Given the description of an element on the screen output the (x, y) to click on. 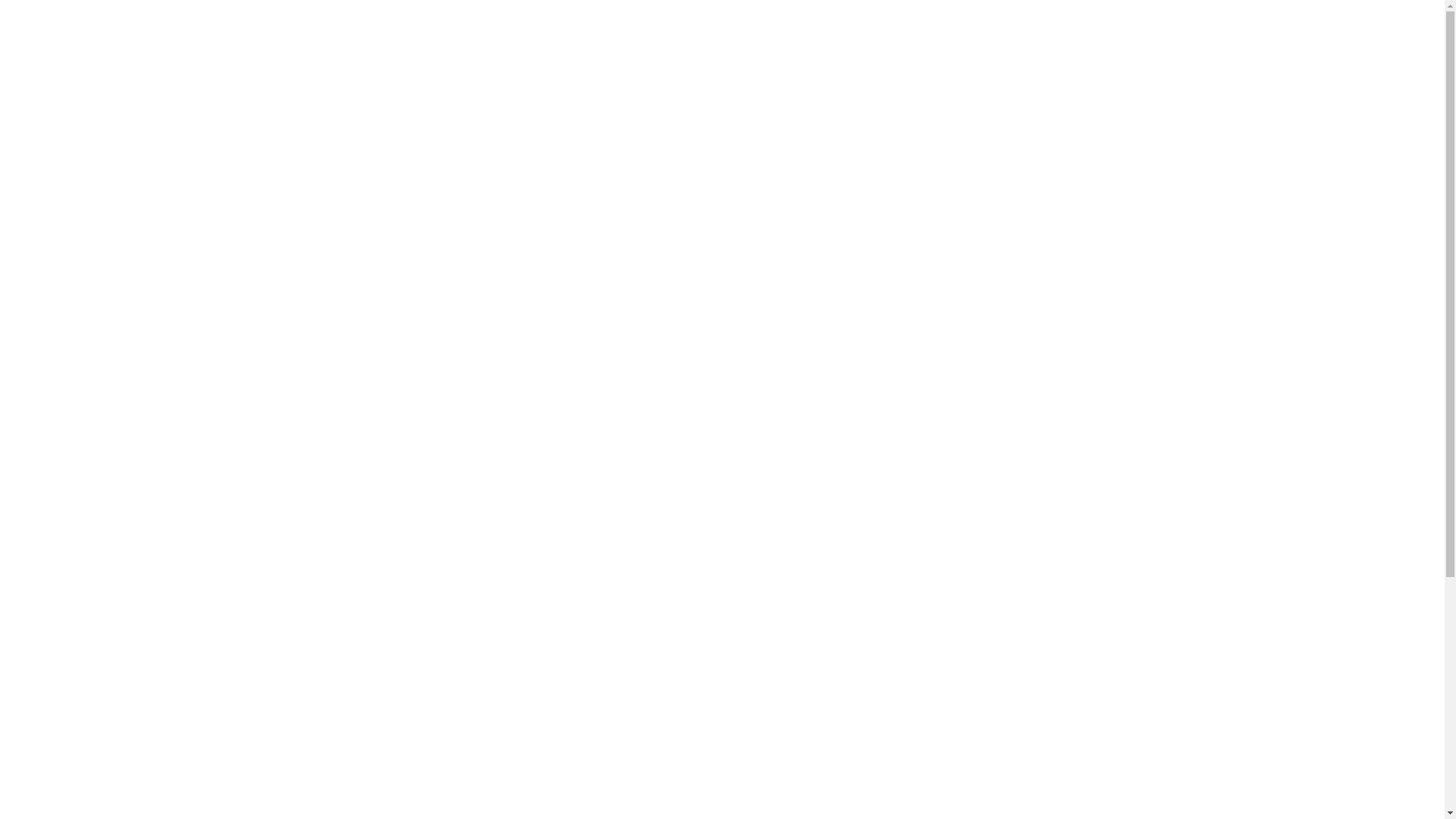
de Element type: text (1368, 13)
en Element type: text (1391, 13)
LINKS & DOWNLOADS Element type: text (999, 37)
OVER ONS Element type: text (556, 37)
NIEUWS Element type: text (899, 37)
PRODUCTIE Element type: text (733, 37)
PRODUCTEN Element type: text (820, 37)
es Element type: text (1413, 13)
ACTIVITEITEN Element type: text (643, 37)
fr Element type: text (1345, 13)
nl Element type: text (1322, 13)
CONTACT Element type: text (1104, 37)
